Given the description of an element on the screen output the (x, y) to click on. 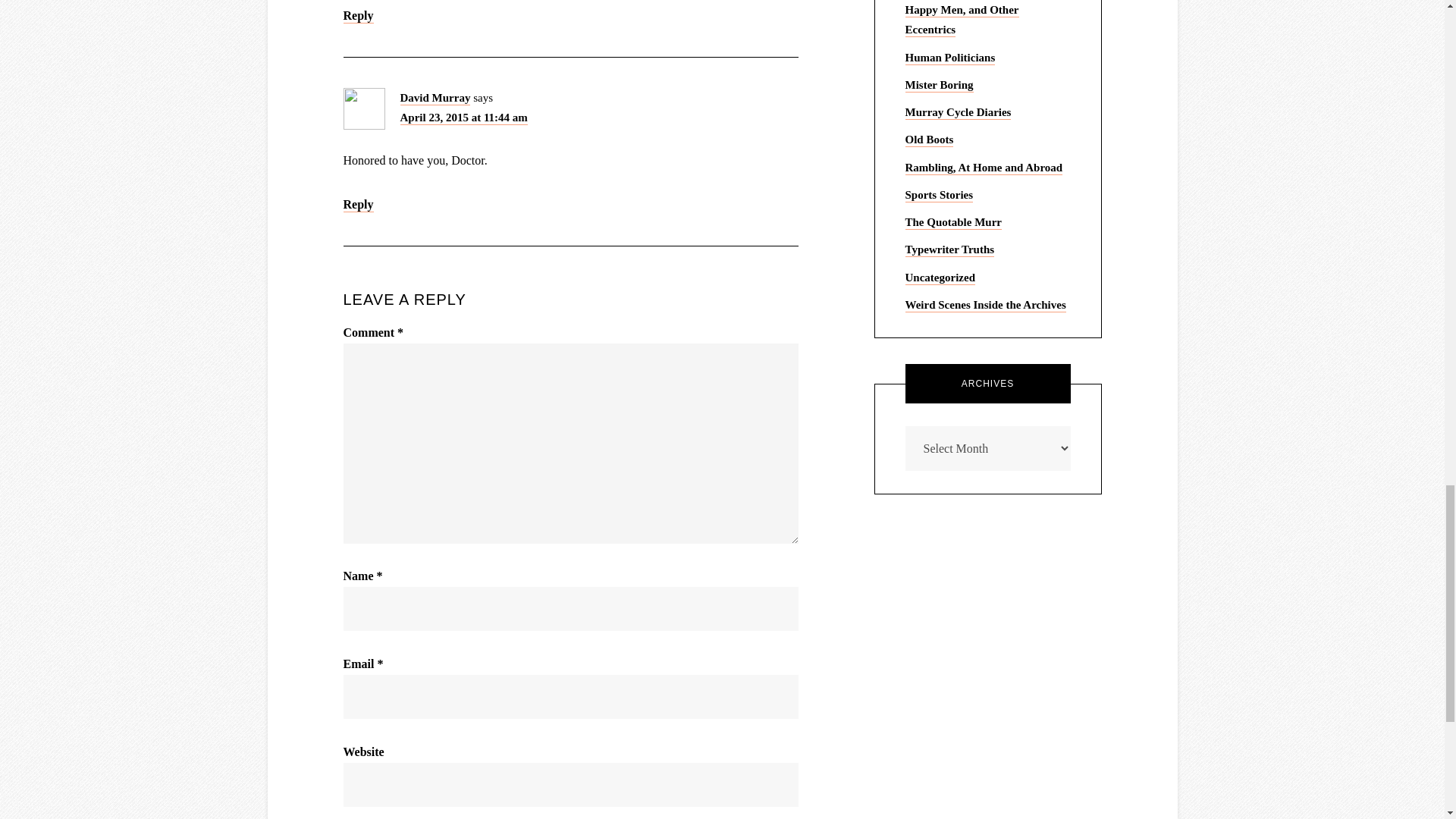
April 23, 2015 at 11:44 am (463, 118)
Weird Scenes Inside the Archives (985, 305)
David Murray (435, 97)
Old Boots (929, 140)
Reply (357, 16)
Murray Cycle Diaries (958, 112)
Sports Stories (939, 195)
Mister Boring (939, 85)
Happy Men, and Other Eccentrics (962, 20)
Human Politicians (950, 58)
Rambling, At Home and Abroad (983, 168)
Reply (357, 205)
The Quotable Murr (954, 223)
Uncategorized (940, 278)
Typewriter Truths (949, 250)
